Given the description of an element on the screen output the (x, y) to click on. 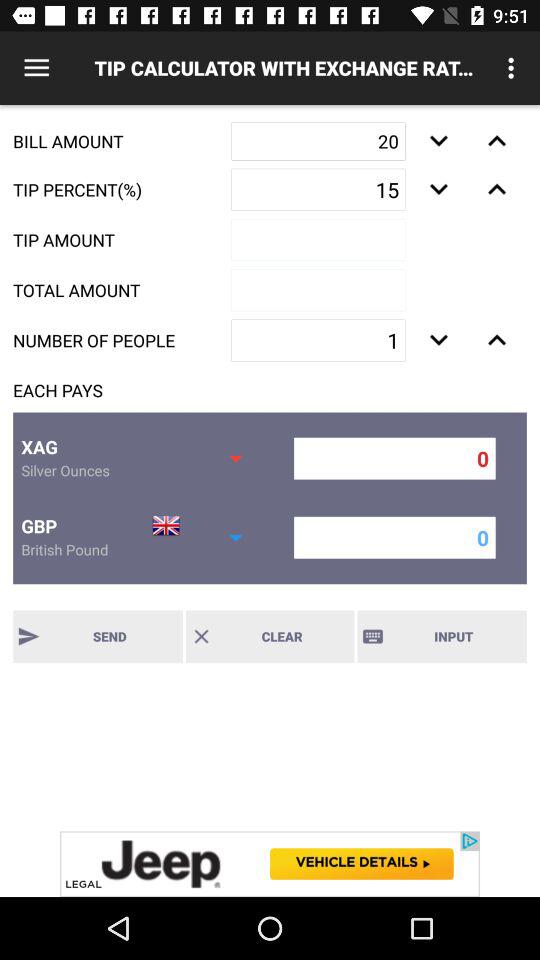
lower button (438, 189)
